Given the description of an element on the screen output the (x, y) to click on. 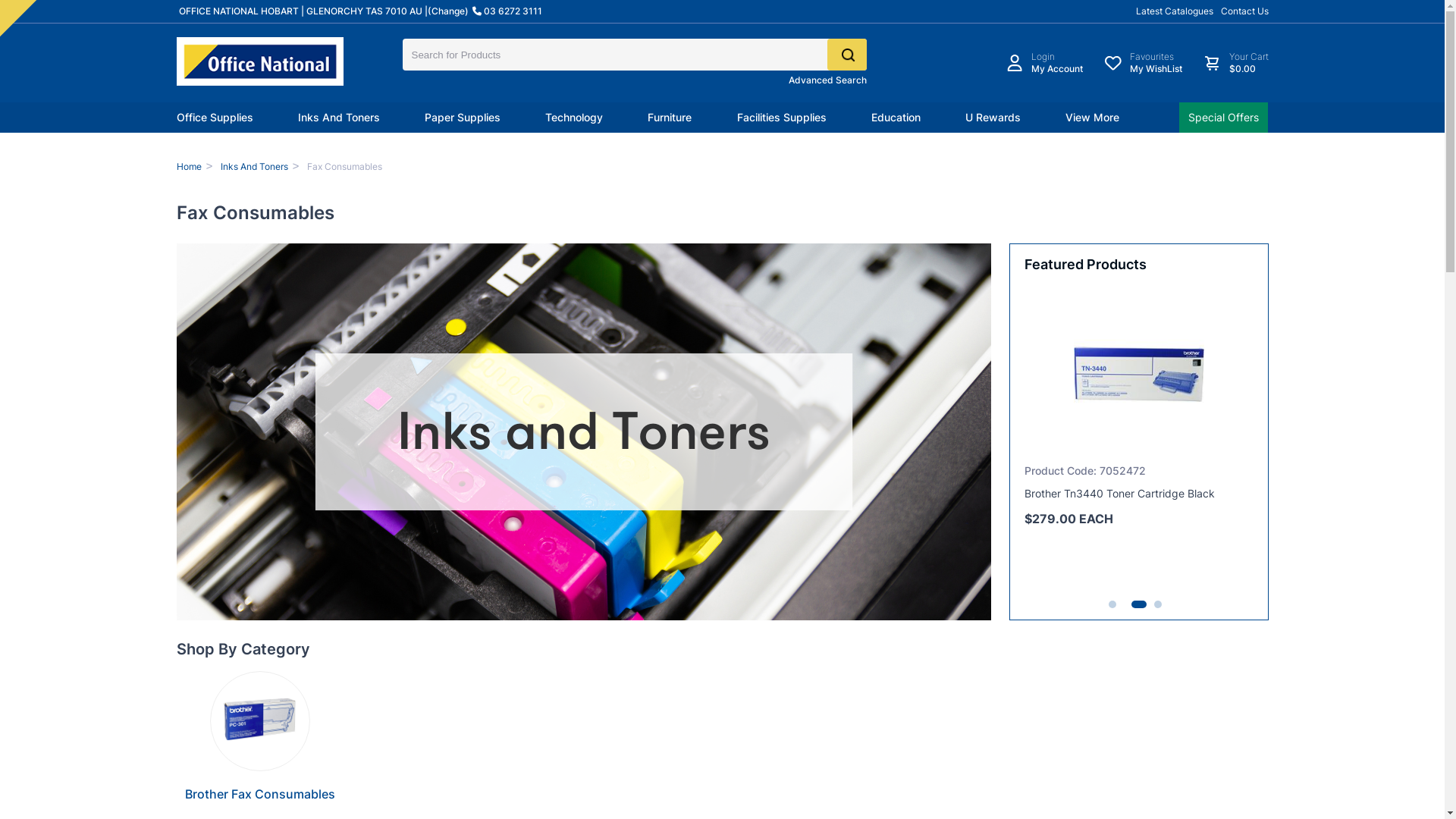
(Change) Element type: text (447, 11)
Education Element type: text (895, 117)
Latest Catalogues Element type: text (1174, 10)
Special Offers Element type: text (1223, 117)
Inks And Toners Element type: text (338, 117)
Technology Element type: text (573, 117)
Home Element type: text (187, 166)
Office Supplies Element type: text (213, 117)
Paper Supplies Element type: text (462, 117)
BROTHER TN3440 TONER CARTRIDGE BLACK Element type: hover (1200, 373)
Search Element type: hover (846, 54)
U Rewards Element type: text (992, 117)
2 Element type: text (1135, 604)
BROTHER TN2450 TONER CARTRIDGE Element type: hover (1020, 373)
Facilities Supplies Element type: text (781, 117)
Furniture Element type: text (669, 117)
Advanced Search Element type: text (827, 79)
Brother Fax Consumables Element type: text (260, 793)
Brother Tn2450 Toner Cartridge Element type: text (1103, 492)
03 6272 3111  Element type: text (507, 11)
Favourites
My
WishList Element type: text (1143, 62)
View More Element type: text (1092, 117)
Office National Element type: hover (258, 61)
Inks And Toners Element type: text (254, 166)
Contact Us Element type: text (1244, 10)
Login
My
Account Element type: text (1043, 62)
1 Element type: text (1112, 604)
3 Element type: text (1157, 604)
Your Cart
$0.00 Element type: text (1234, 62)
30886 Element type: text (7, 7)
